Given the description of an element on the screen output the (x, y) to click on. 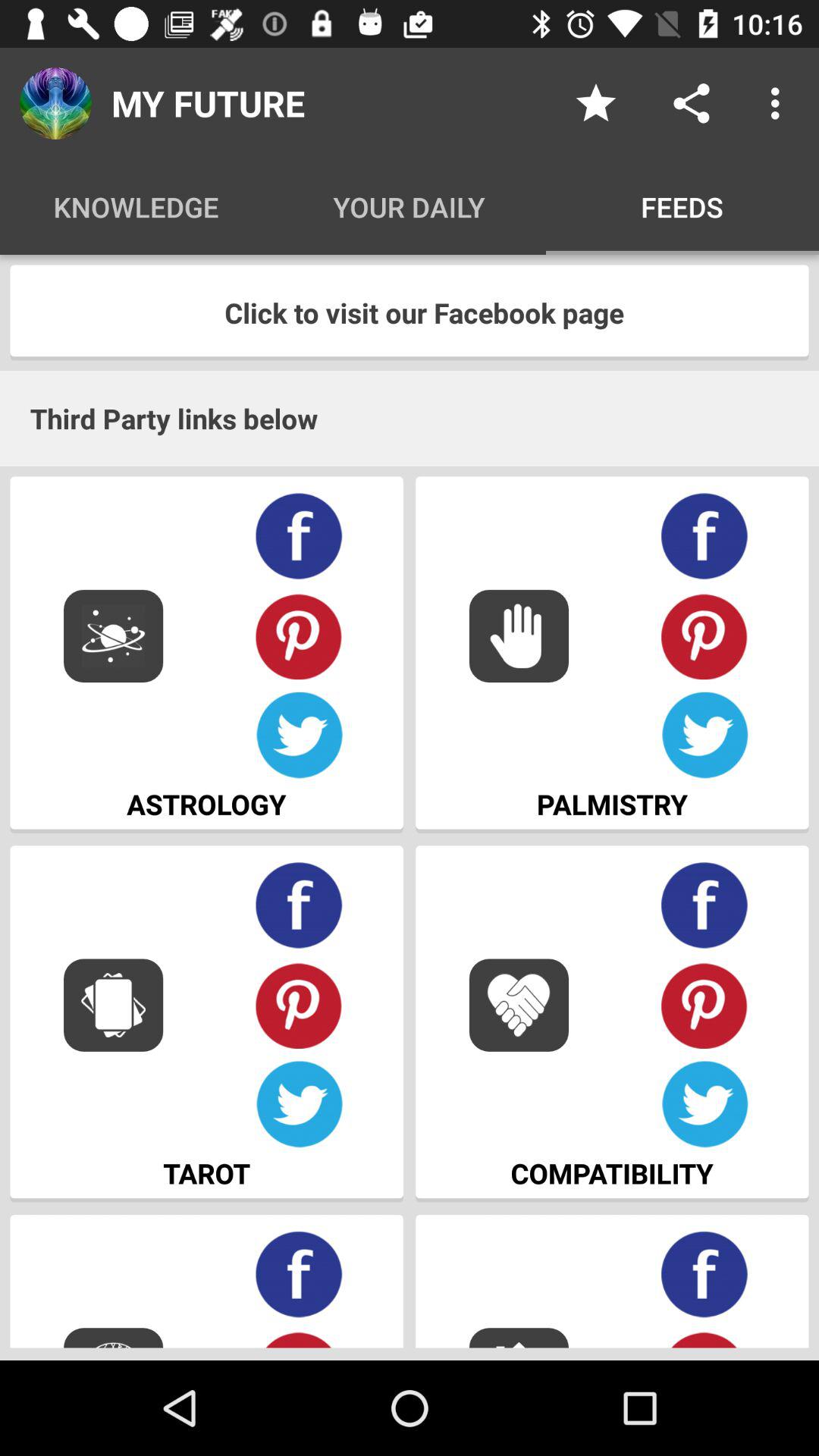
turn on item below the knowledge item (409, 312)
